Given the description of an element on the screen output the (x, y) to click on. 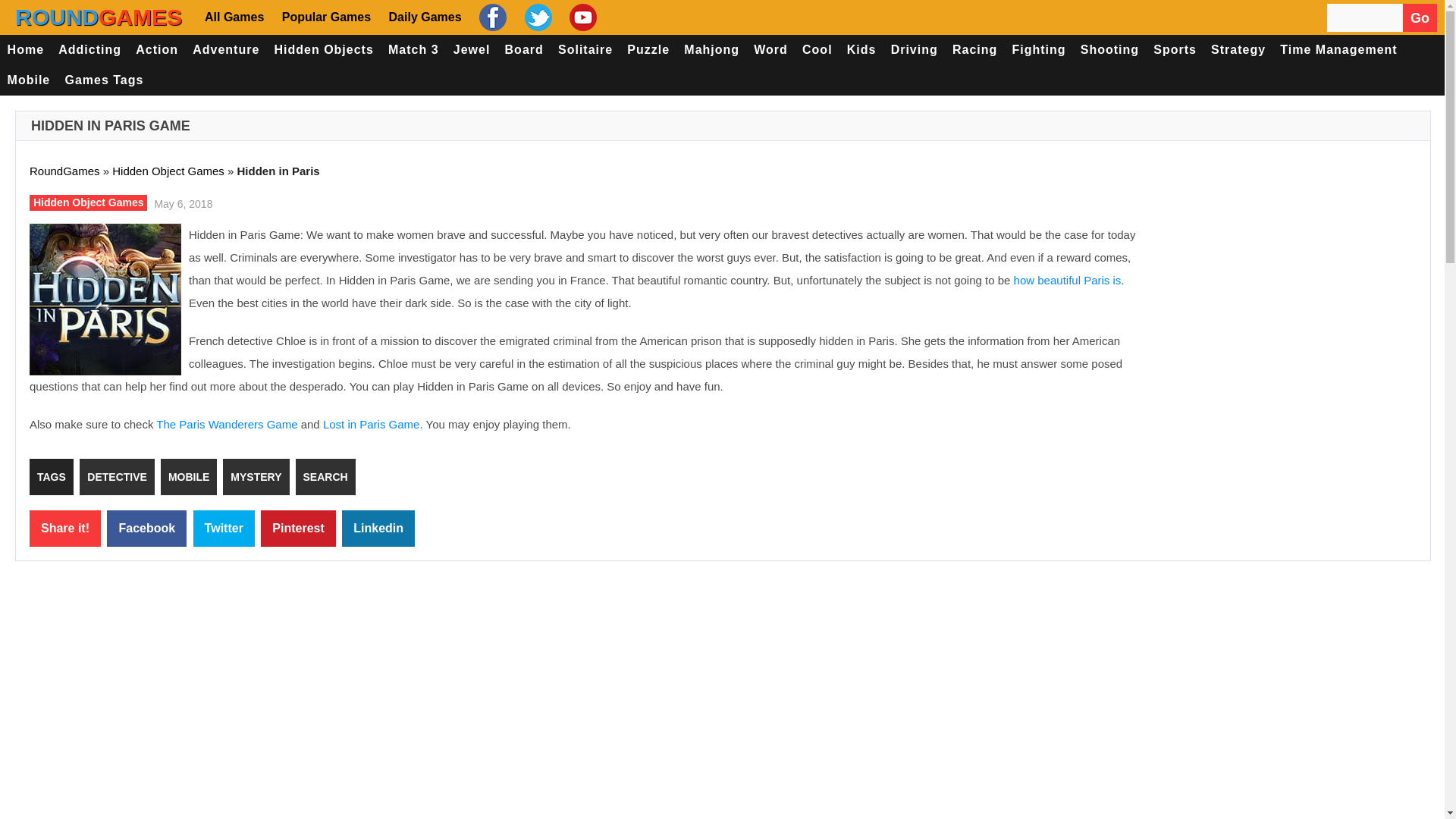
Follow us on Facebook (491, 17)
Home (25, 50)
Action (157, 50)
ROUNDGAMES (98, 17)
Hidden Objects (323, 50)
Daily Games (423, 16)
Match 3 (412, 50)
5:33 pm (180, 202)
Go (1420, 17)
